Given the description of an element on the screen output the (x, y) to click on. 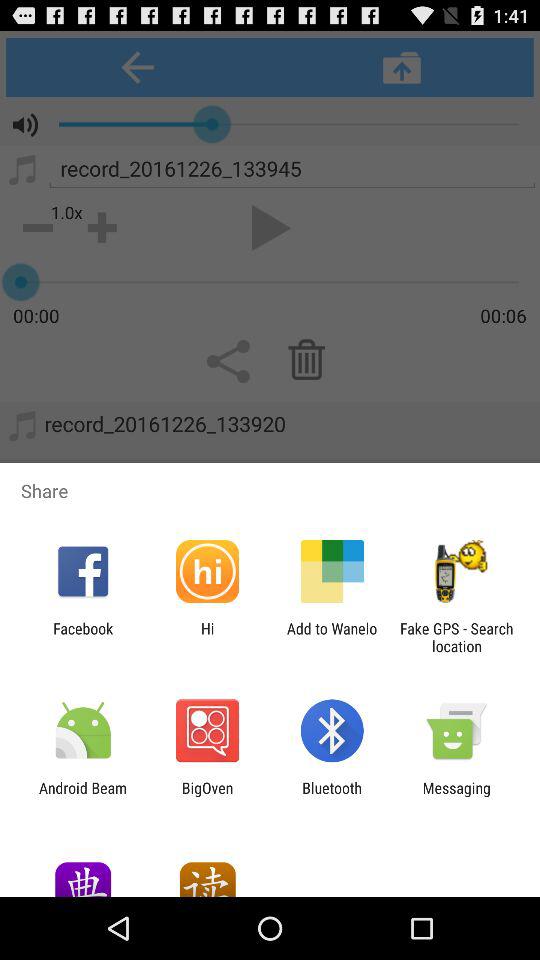
tap the icon next to the bigoven icon (83, 796)
